Given the description of an element on the screen output the (x, y) to click on. 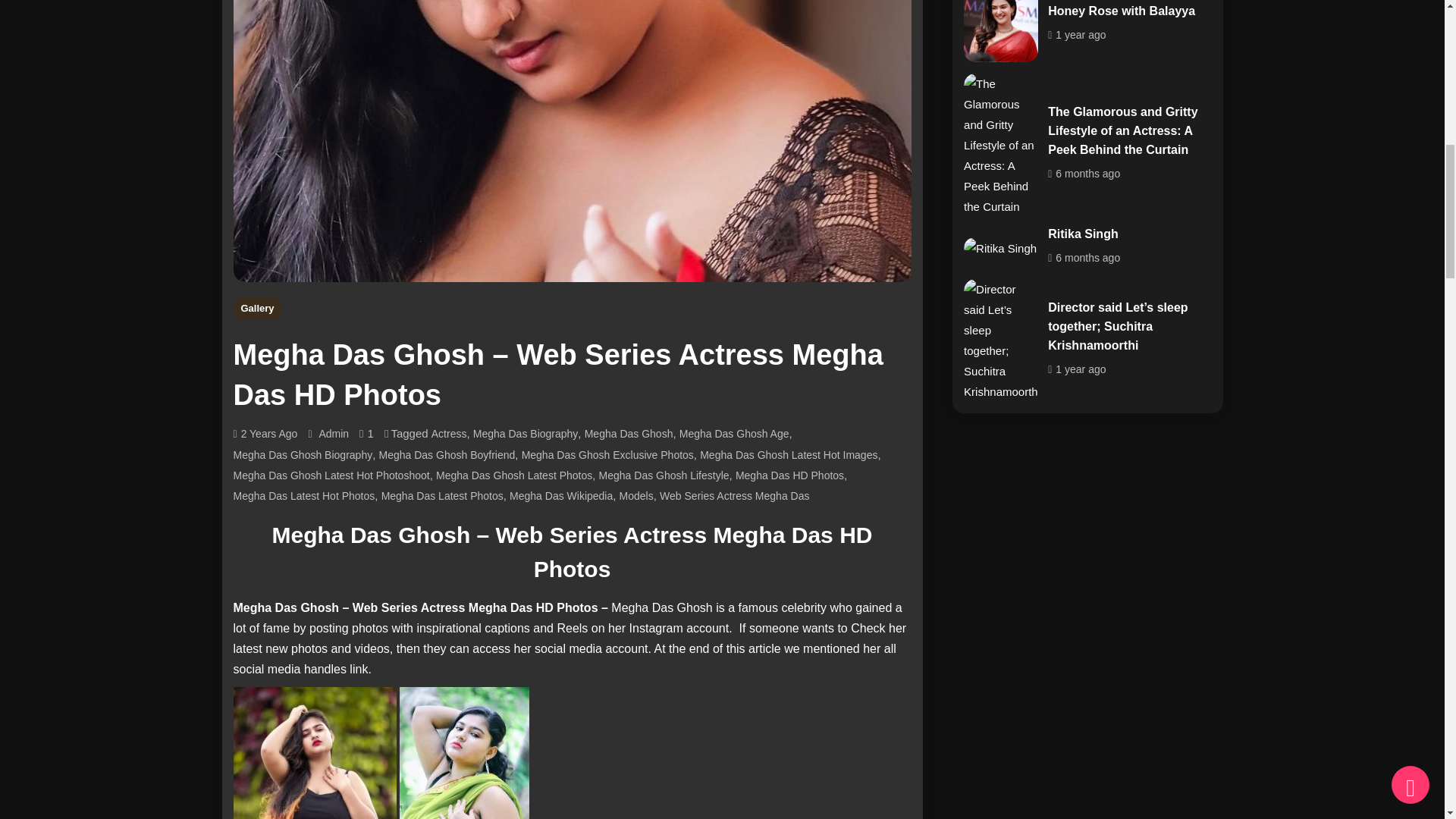
Megha Das Ghosh Latest Hot Images (788, 455)
Actress (448, 434)
Megha Das Ghosh (628, 434)
Megha Das Ghosh Exclusive Photos (607, 455)
Megha Das Ghosh Age (734, 434)
Megha Das Ghosh Latest Photos (513, 475)
Gallery (257, 308)
Megha Das Ghosh Latest Hot Photoshoot (330, 475)
Megha Das Biography (525, 434)
Megha Das Wikipedia (560, 496)
